Given the description of an element on the screen output the (x, y) to click on. 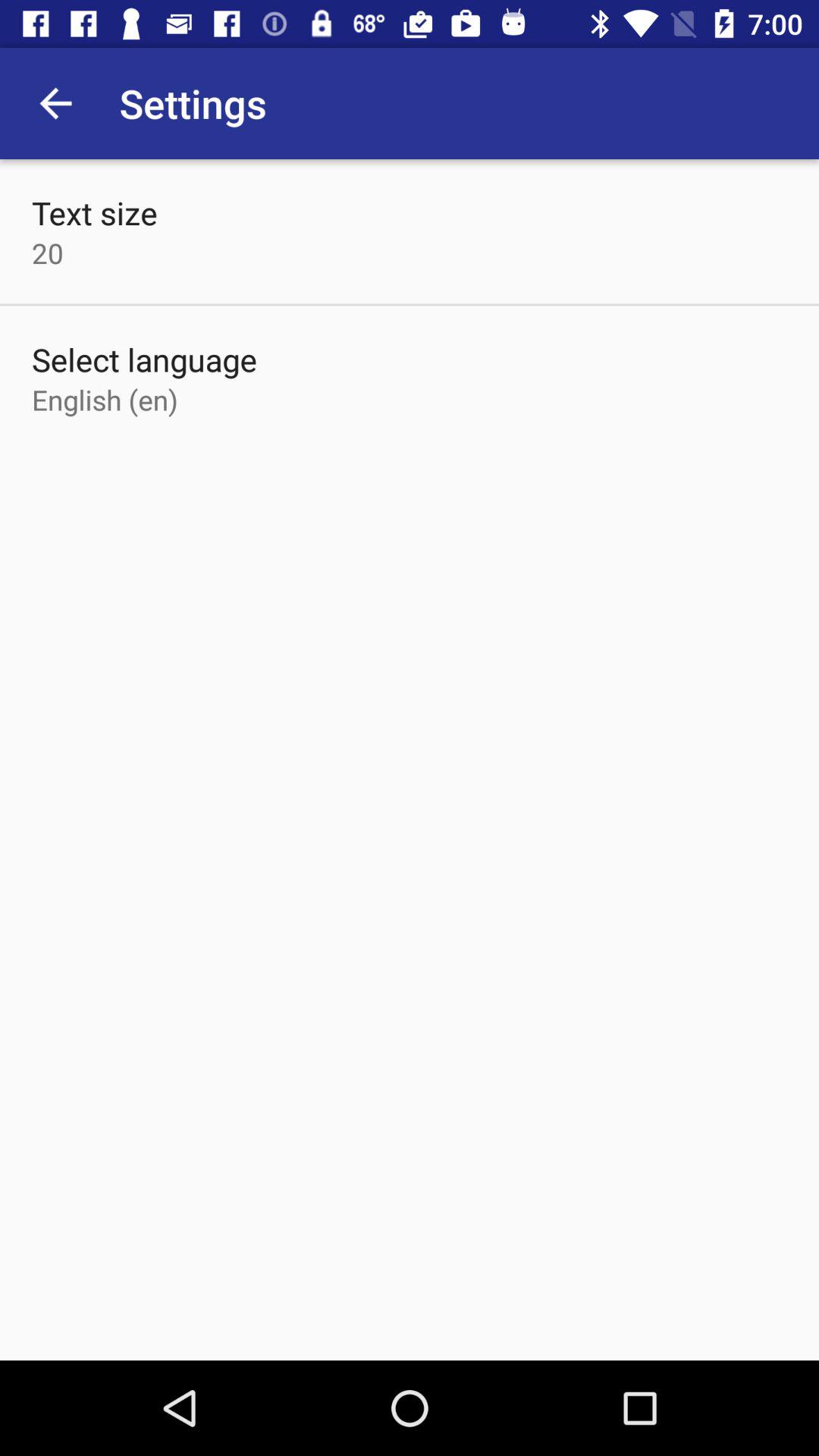
choose the icon below 20 item (144, 359)
